Given the description of an element on the screen output the (x, y) to click on. 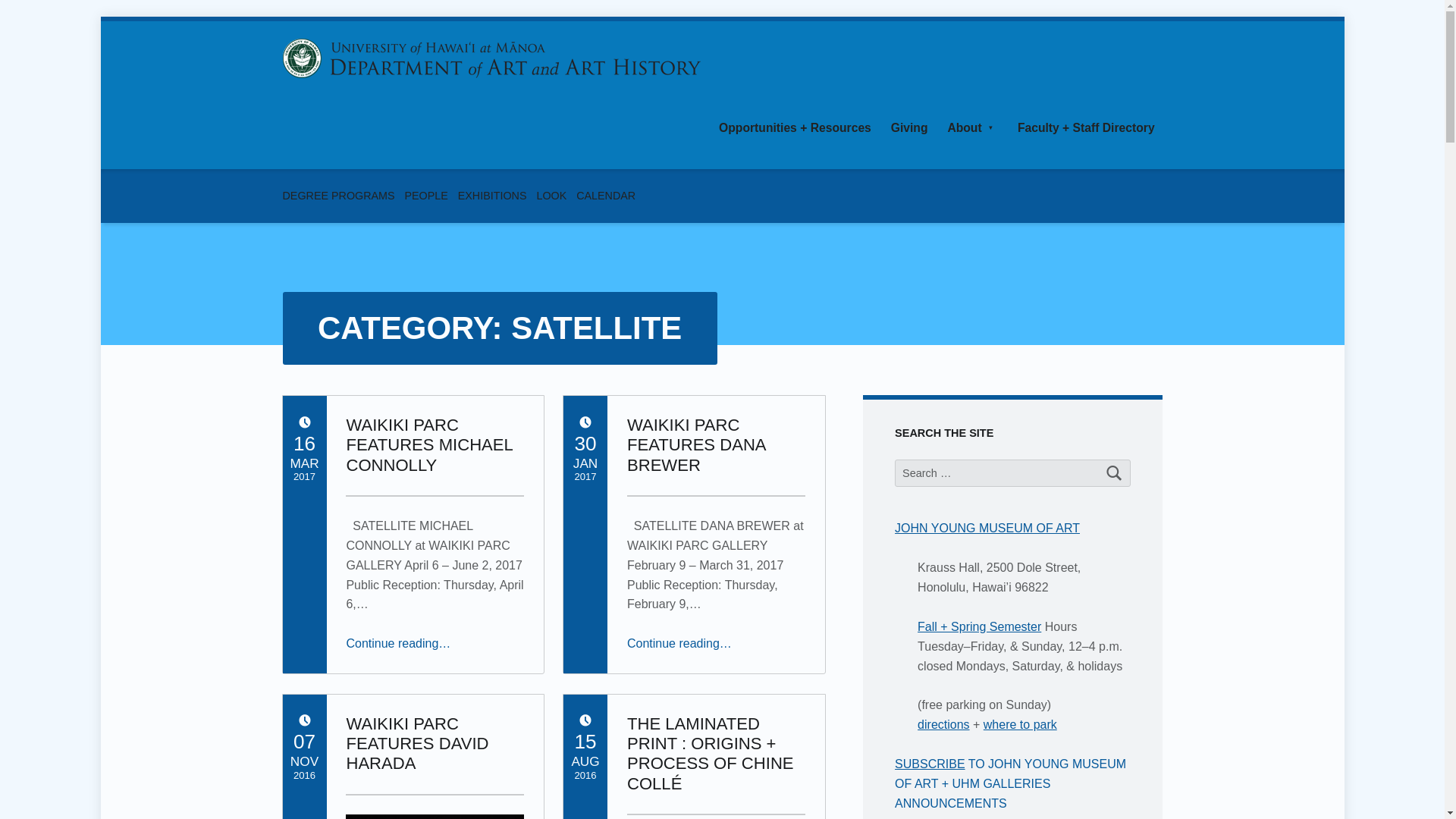
LOOK (550, 195)
WAIKIKI PARC FEATURES DAVID HARADA (416, 743)
CALENDAR (605, 195)
EXHIBITIONS (492, 195)
DEGREE PROGRAMS (338, 195)
UHM ART INSTAGRAM (1150, 195)
WAIKIKI PARC FEATURES DANA BREWER (696, 445)
UHM ART ON TWITTER (1123, 195)
Search (1115, 472)
Search (1115, 472)
PEOPLE (426, 195)
UHM ART ON FACEBOOK (1097, 195)
WAIKIKI PARC FEATURES MICHAEL CONNOLLY (429, 445)
Get the best WordPress themes! (1150, 195)
